Given the description of an element on the screen output the (x, y) to click on. 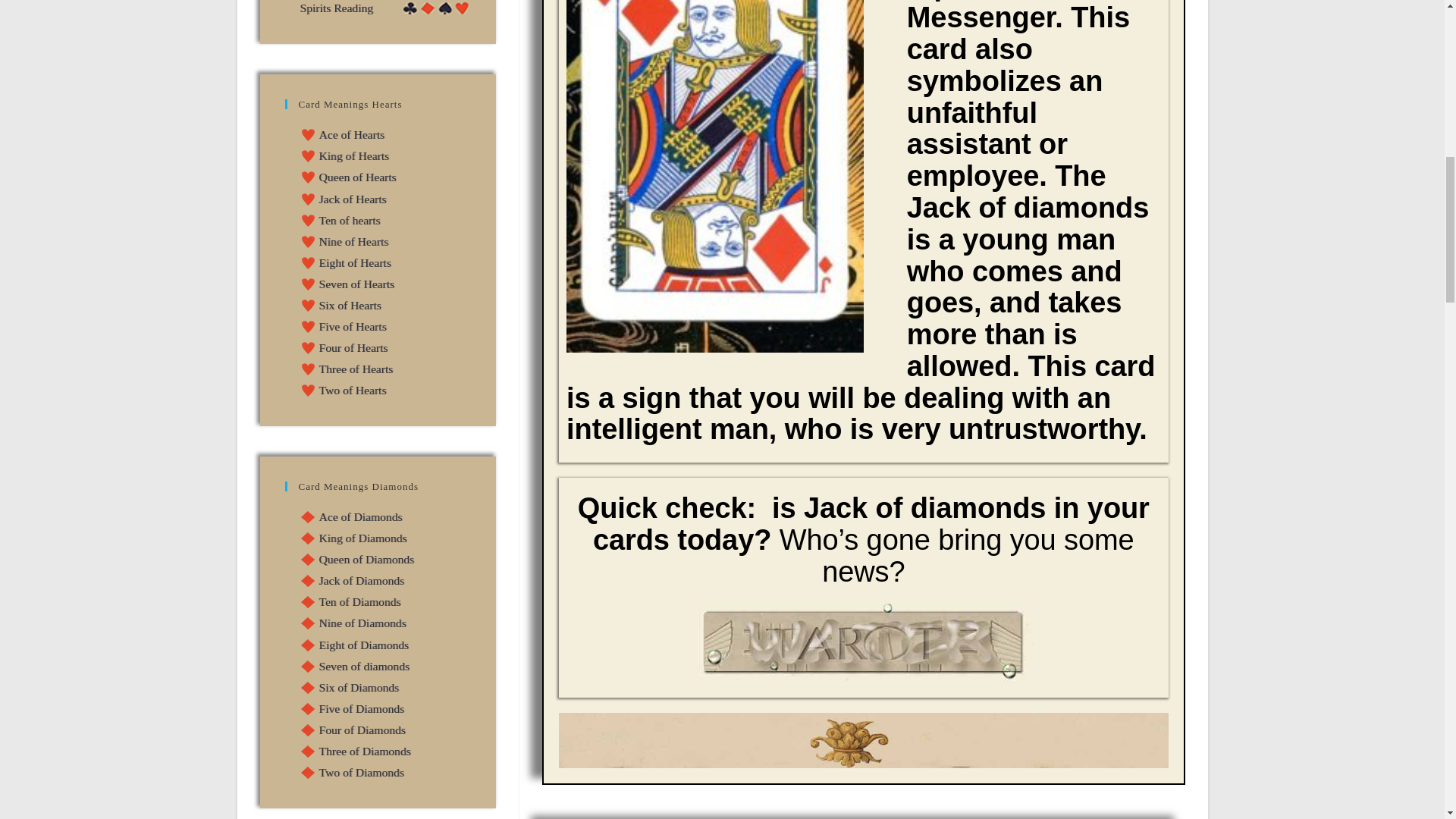
button card reading todays (863, 641)
